Given the description of an element on the screen output the (x, y) to click on. 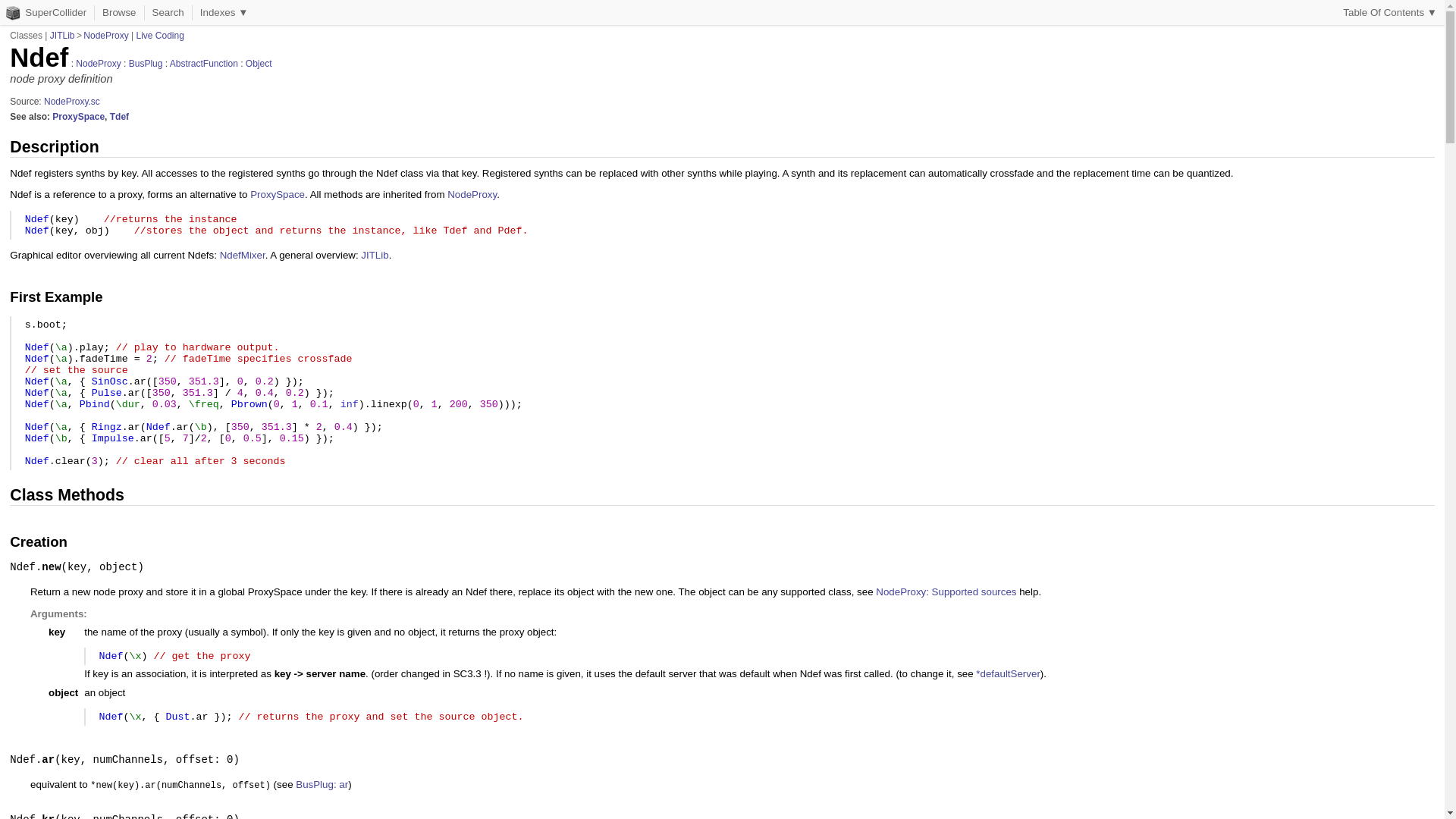
SuperCollider (47, 12)
Browse (118, 12)
Search (168, 12)
